Given the description of an element on the screen output the (x, y) to click on. 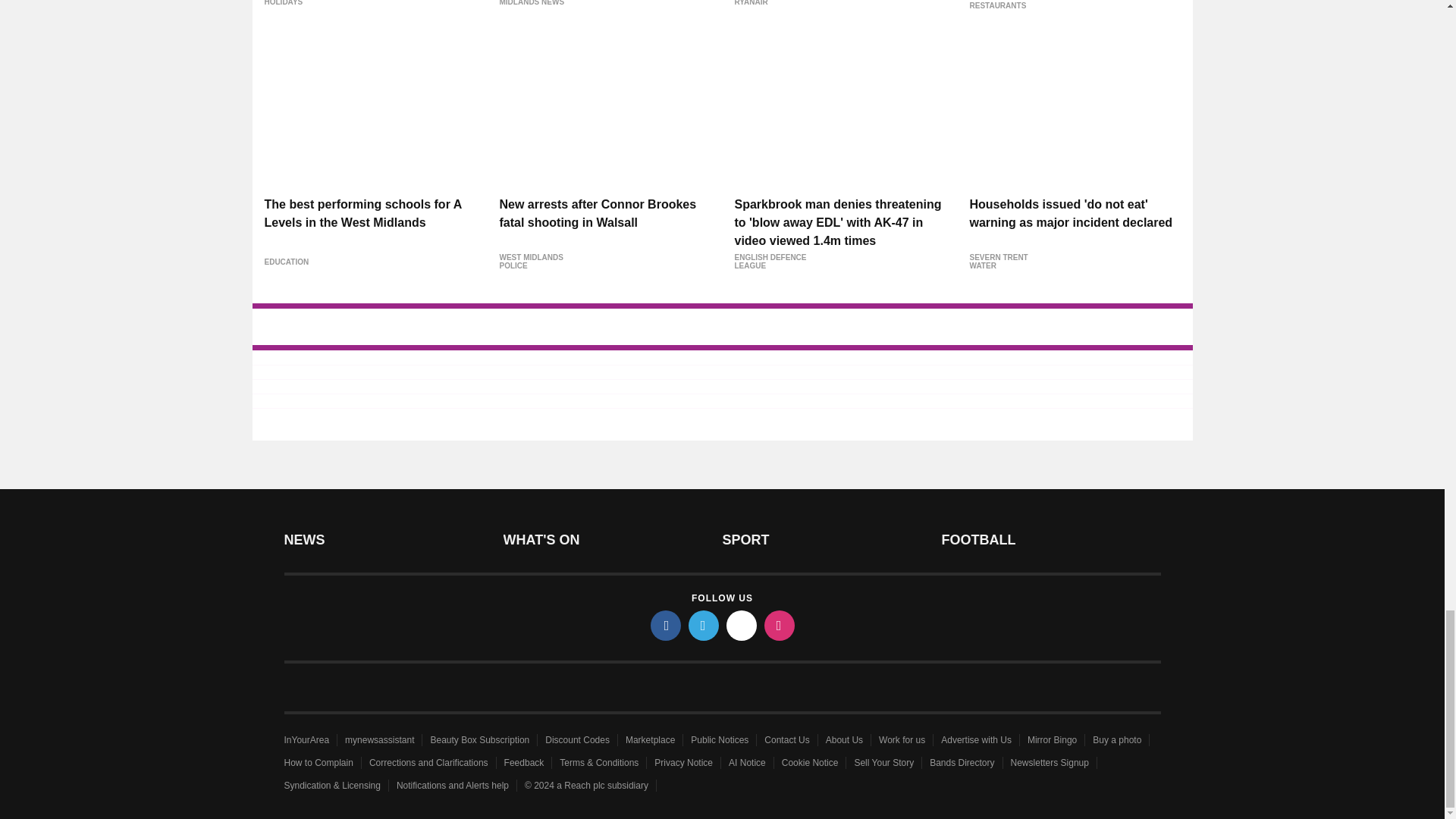
instagram (779, 625)
twitter (703, 625)
tiktok (741, 625)
facebook (665, 625)
